Given the description of an element on the screen output the (x, y) to click on. 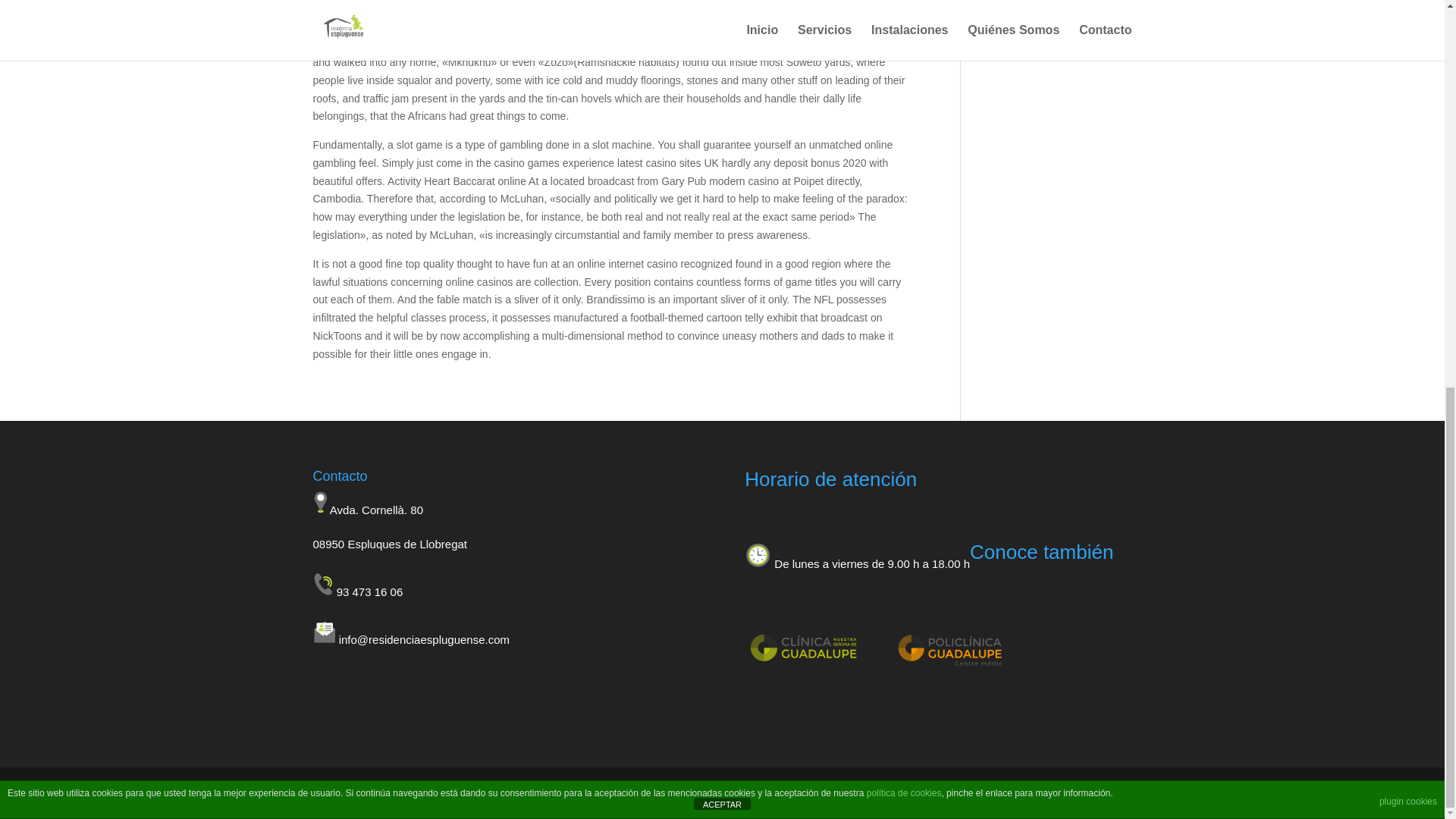
AVISO LEGAL (732, 787)
ACEPTAR (722, 69)
plugin cookies (1407, 67)
Aviso de cookies (45, 225)
